Given the description of an element on the screen output the (x, y) to click on. 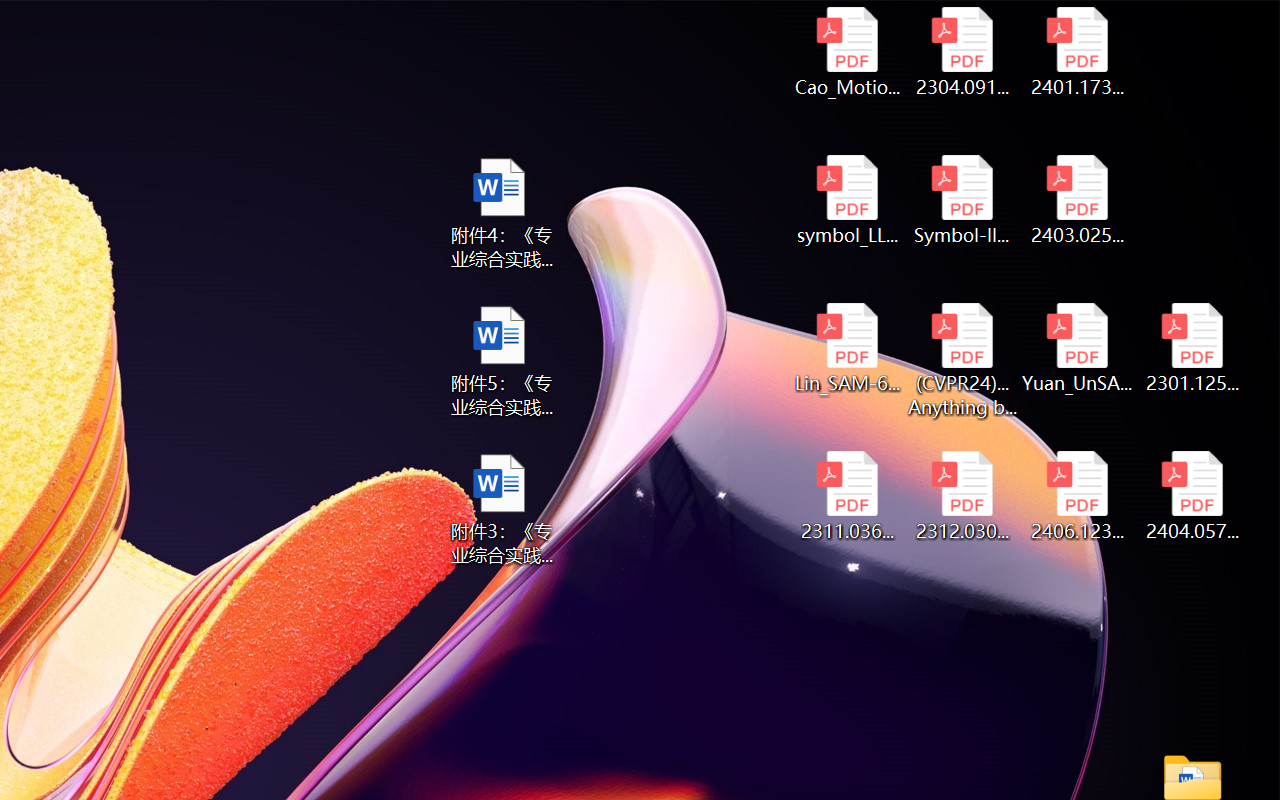
(CVPR24)Matching Anything by Segmenting Anything.pdf (962, 360)
